Given the description of an element on the screen output the (x, y) to click on. 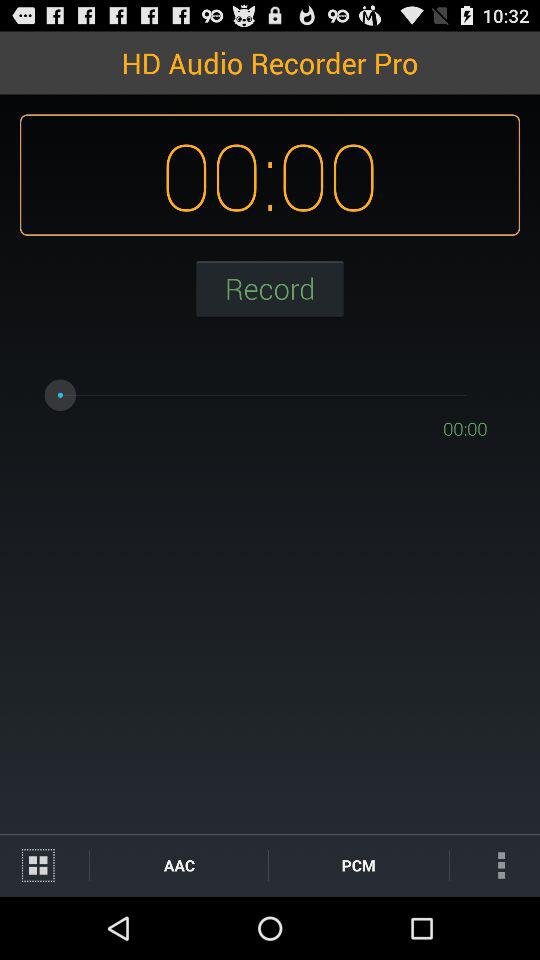
select item next to pcm item (494, 864)
